Given the description of an element on the screen output the (x, y) to click on. 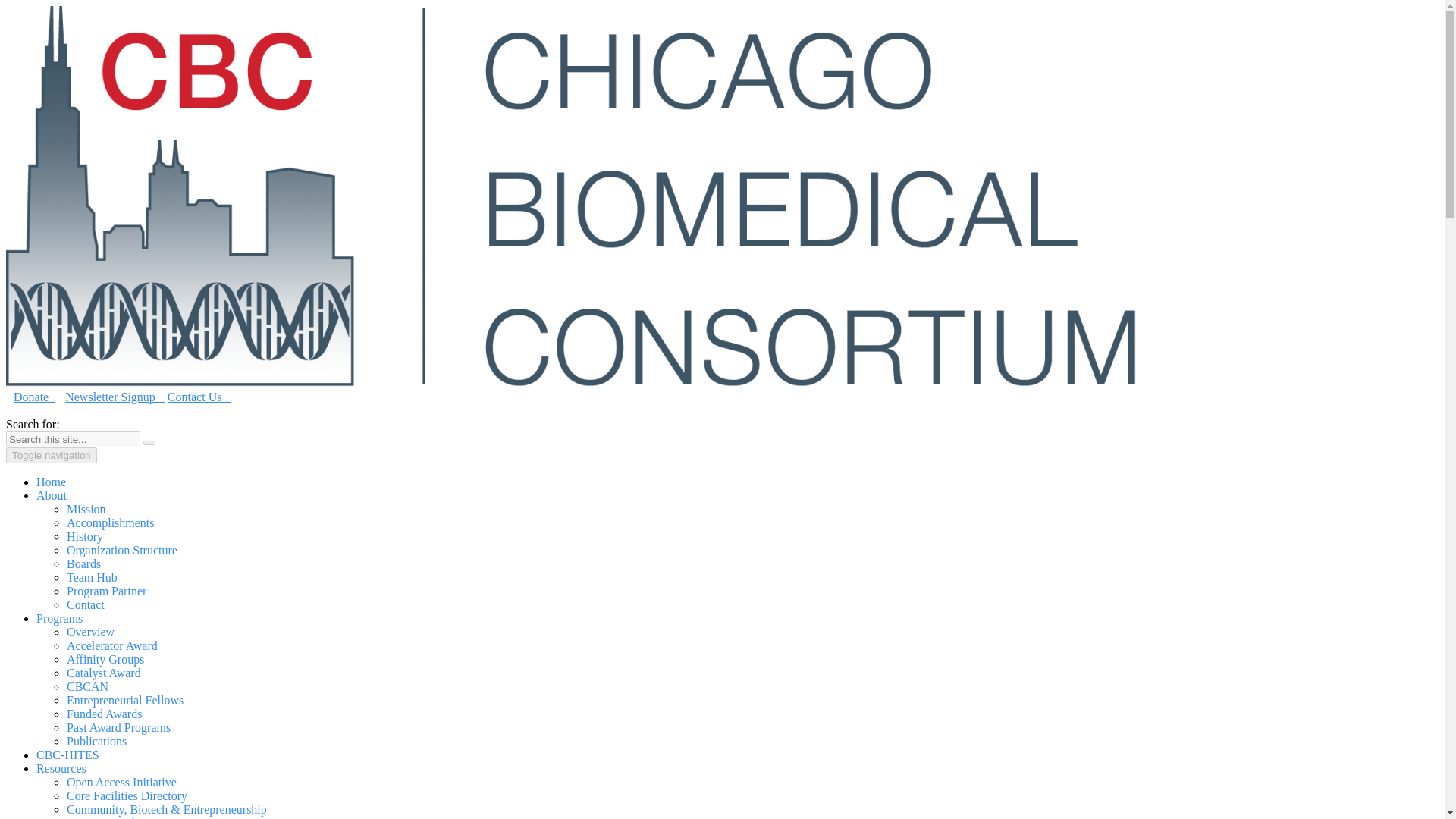
CBCAN (86, 686)
CBC-HITES (67, 754)
Organization Structure (121, 549)
Core Facilities Directory (126, 795)
Program Partner (106, 590)
Mission (86, 508)
Accomplishments (110, 522)
Affinity Groups (105, 658)
Programs (59, 617)
Boards (83, 563)
